Given the description of an element on the screen output the (x, y) to click on. 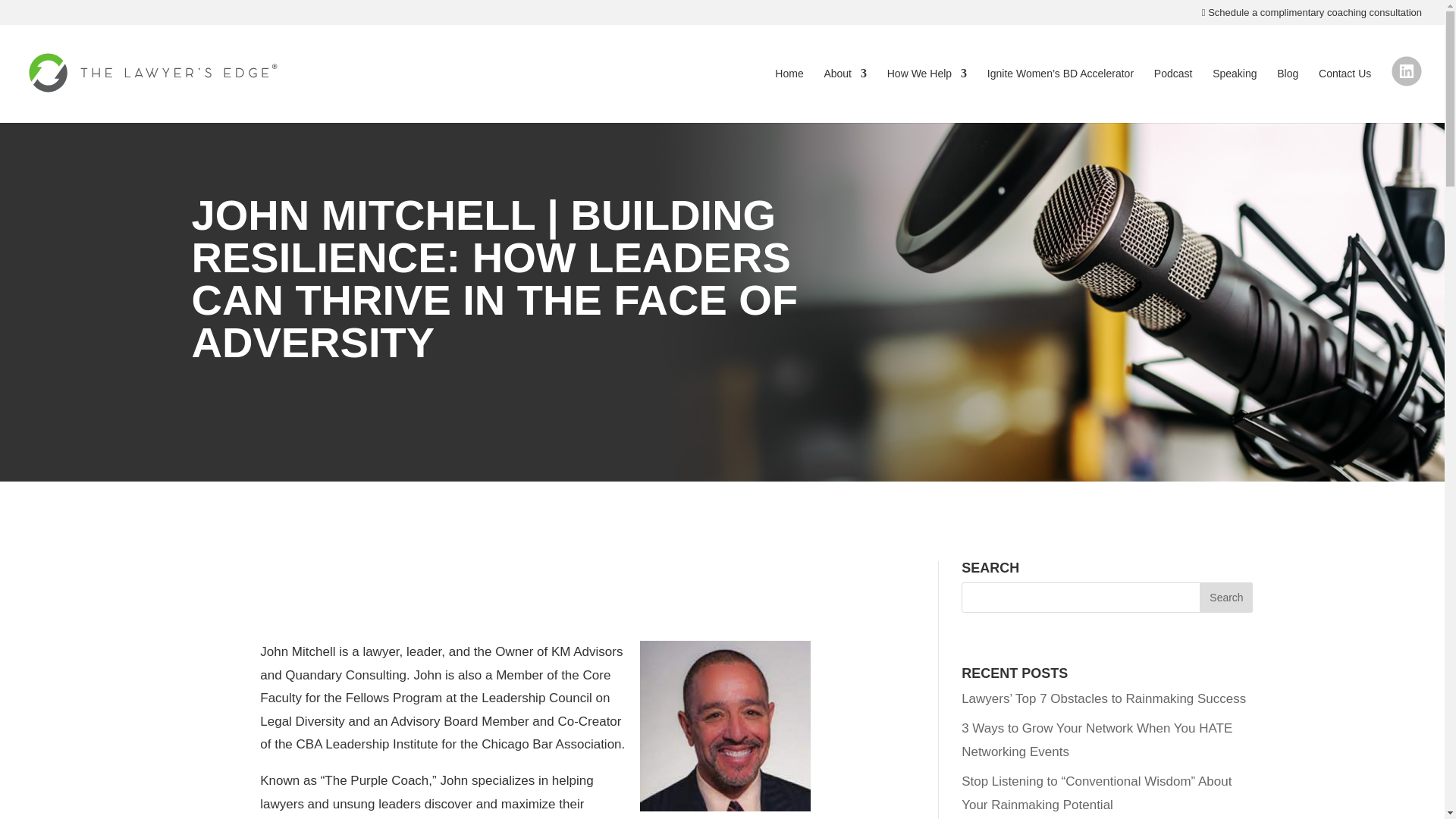
Contact Us (1345, 90)
How We Help (926, 90)
About (845, 90)
Speaking (1234, 90)
Schedule a complimentary coaching consultation (1312, 16)
Search (1225, 597)
